Given the description of an element on the screen output the (x, y) to click on. 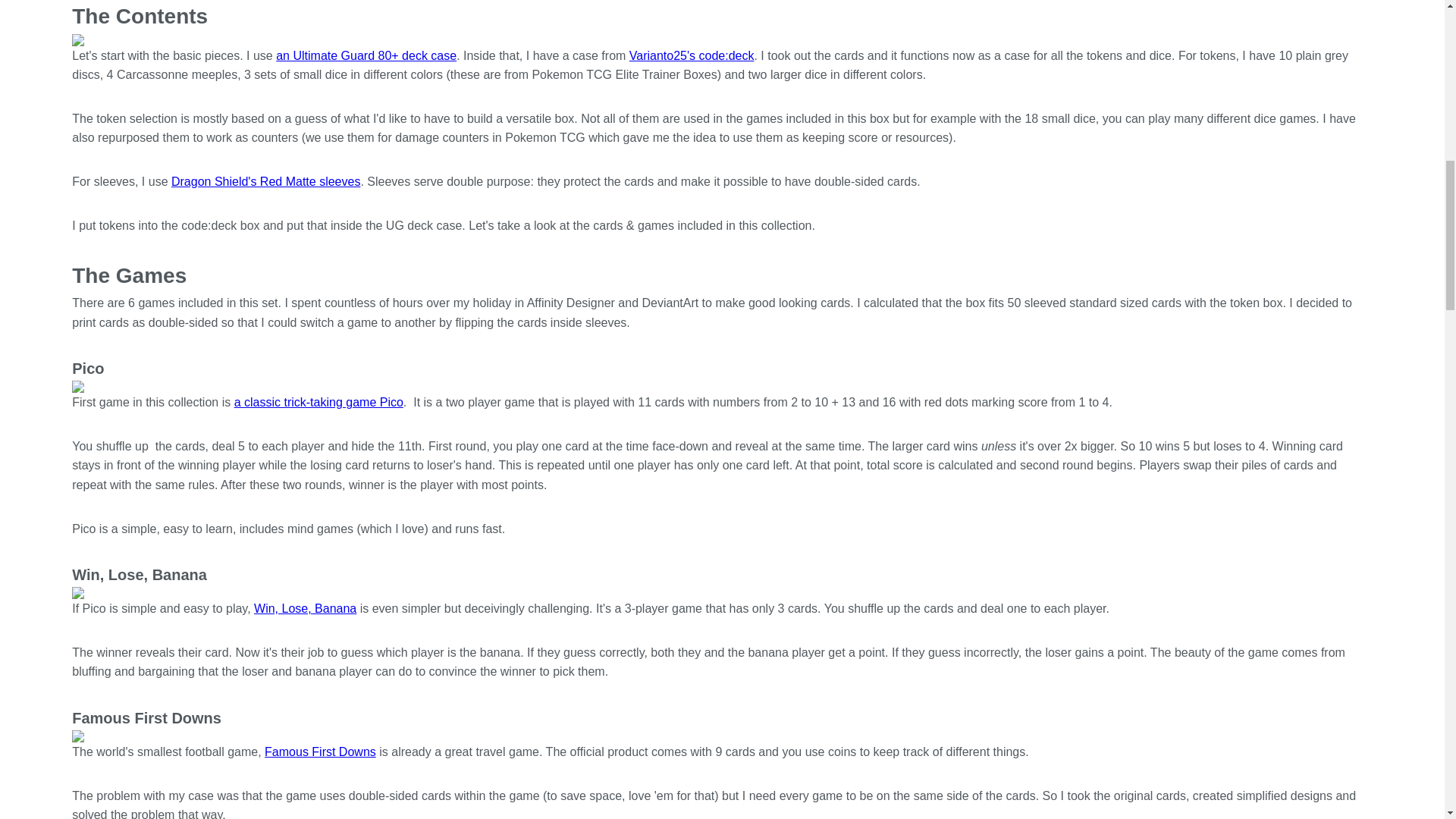
Dragon Shield's Red Matte sleeves (265, 181)
a classic trick-taking game Pico (318, 401)
Win, Lose, Banana (304, 608)
Famous First Downs (319, 751)
Varianto25's code:deck (691, 55)
